Given the description of an element on the screen output the (x, y) to click on. 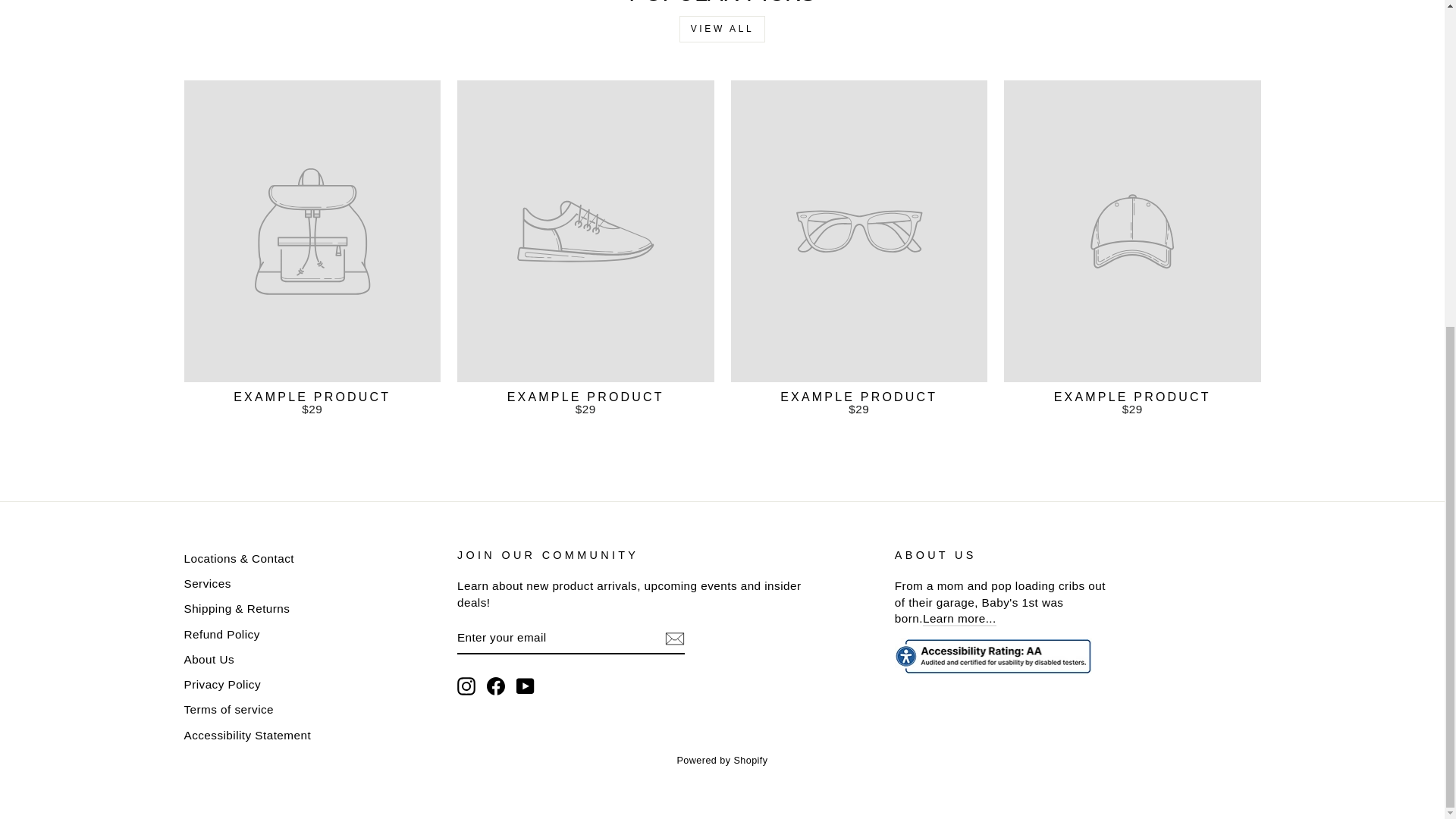
Lean more, About Us (959, 618)
